Given the description of an element on the screen output the (x, y) to click on. 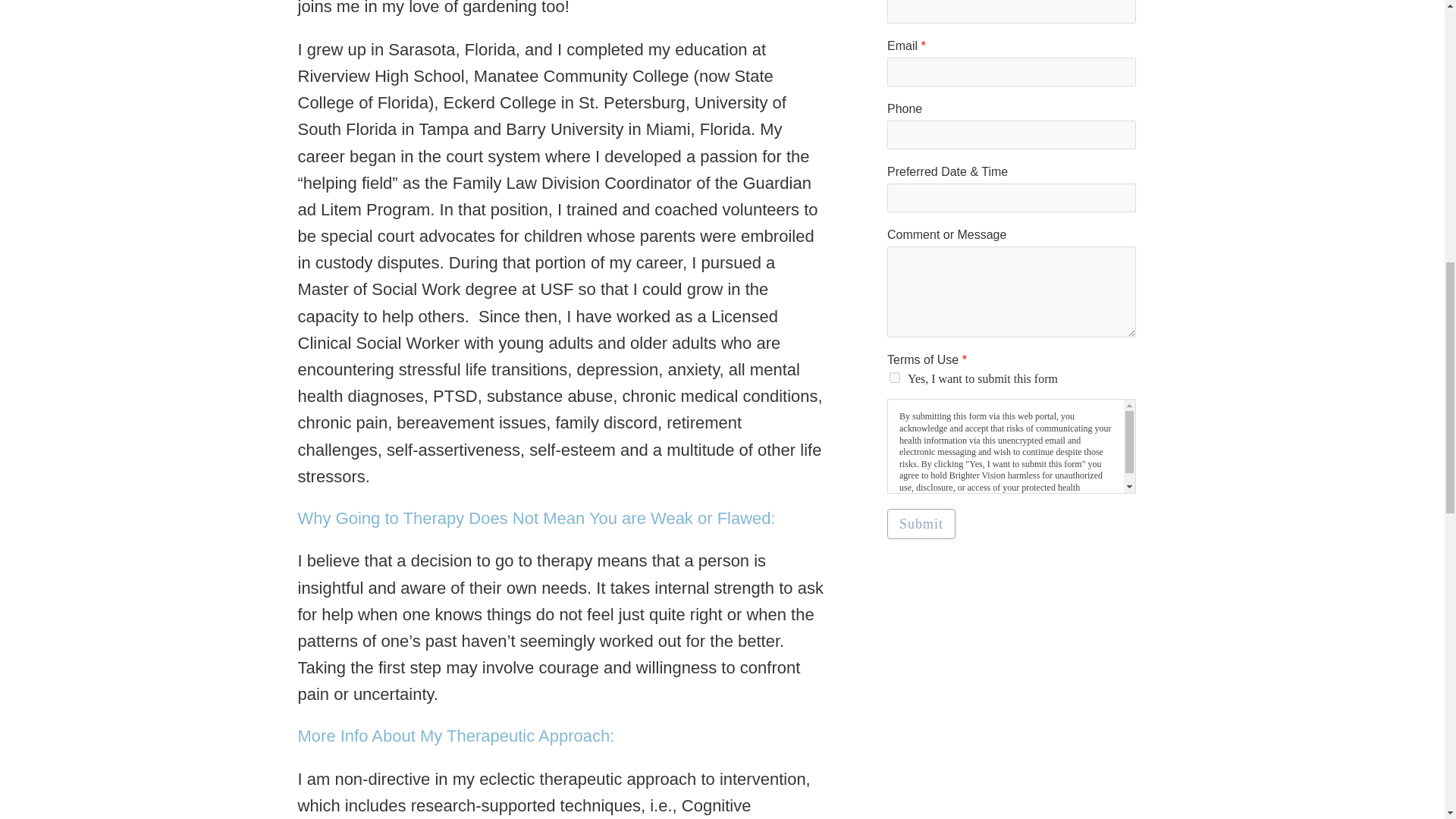
Yes, I want to submit this form (894, 377)
